Given the description of an element on the screen output the (x, y) to click on. 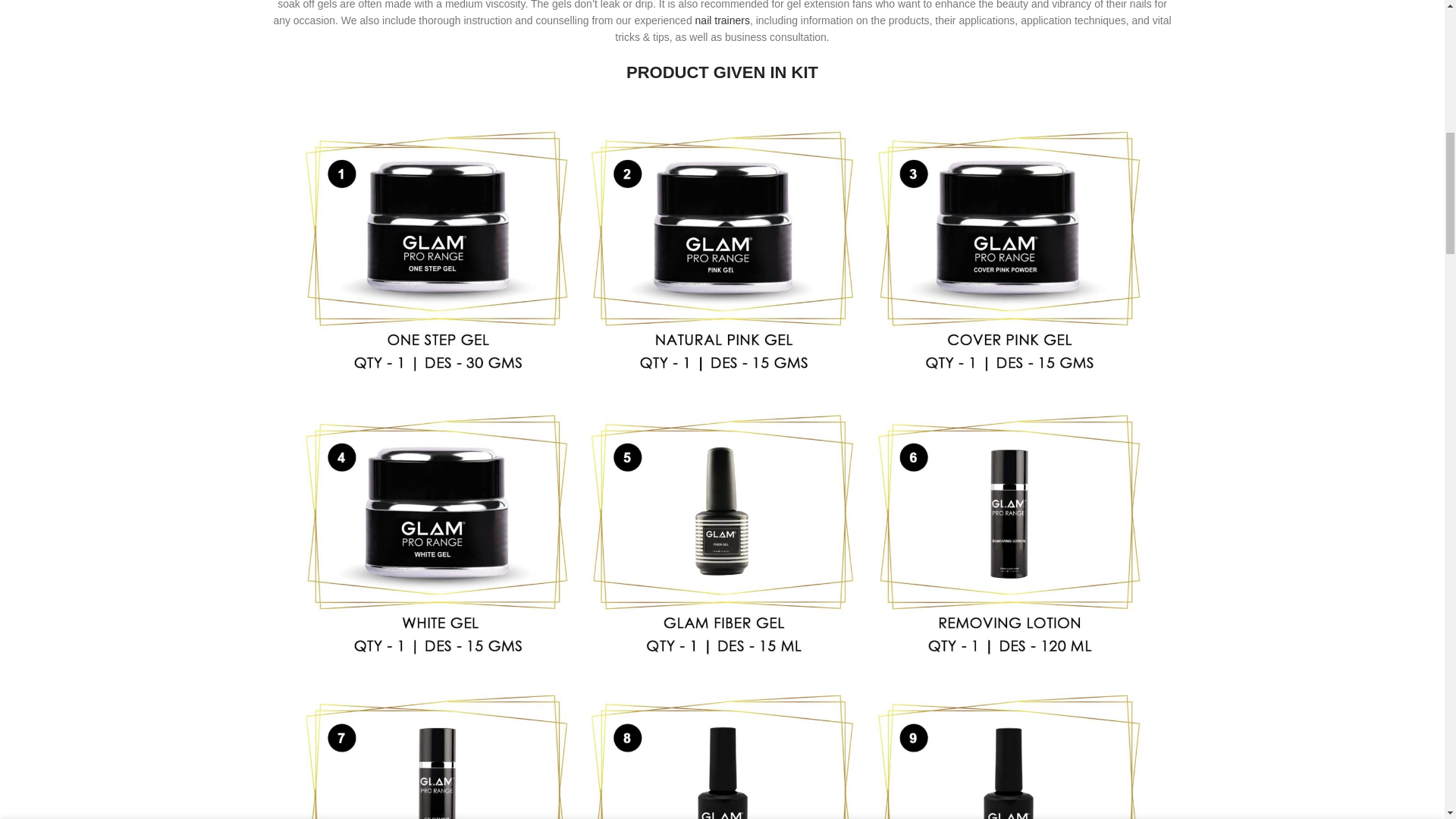
1 (989, 32)
- (968, 32)
